Given the description of an element on the screen output the (x, y) to click on. 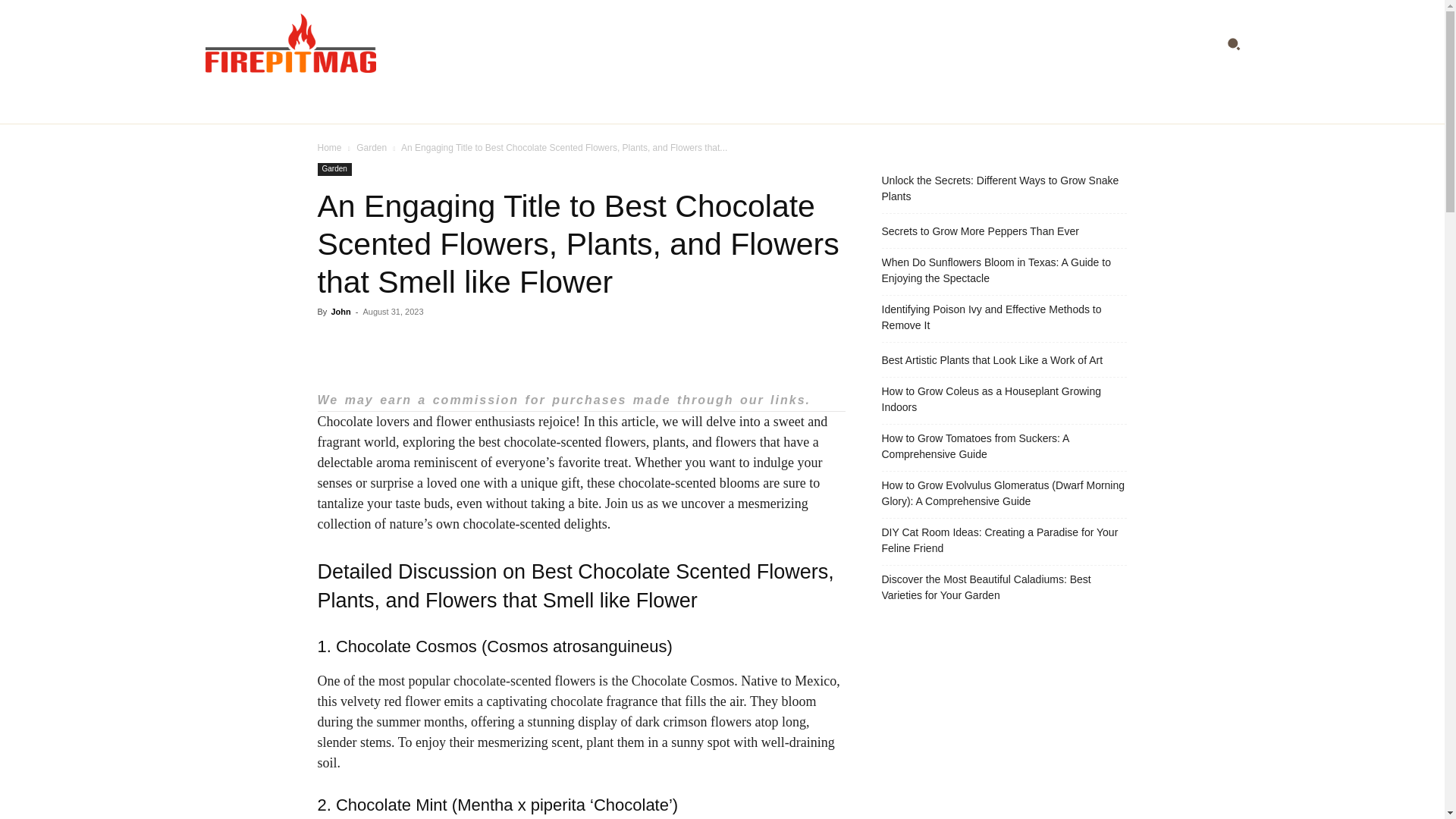
Home (328, 147)
Secrets to Grow More Peppers Than Ever (979, 231)
How to Grow Tomatoes from Suckers: A Comprehensive Guide (1003, 446)
Garden (371, 147)
How to Grow Coleus as a Houseplant Growing Indoors (1003, 399)
Unlock the Secrets: Different Ways to Grow Snake Plants (1003, 188)
View all posts in Garden (371, 147)
Identifying Poison Ivy and Effective Methods to Remove It (1003, 317)
John (340, 311)
Garden (333, 169)
Best Artistic Plants that Look Like a Work of Art (991, 360)
